Given the description of an element on the screen output the (x, y) to click on. 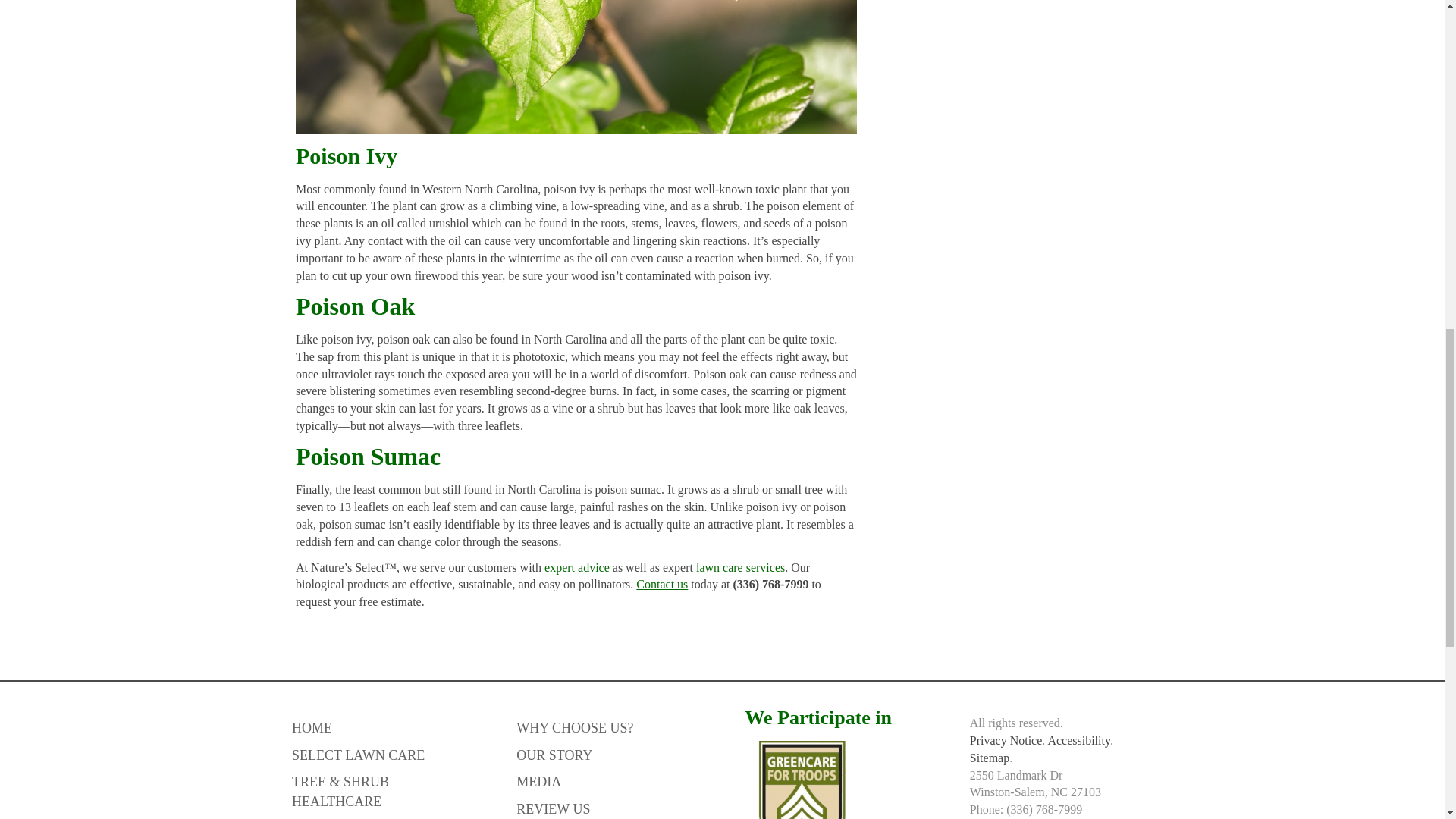
Why Choose Us? (609, 724)
Select Lawn Care (384, 751)
Media (609, 778)
Our Story (609, 751)
Review Us (609, 805)
Home (384, 724)
Lawn Pest Control Solutions (384, 815)
